Given the description of an element on the screen output the (x, y) to click on. 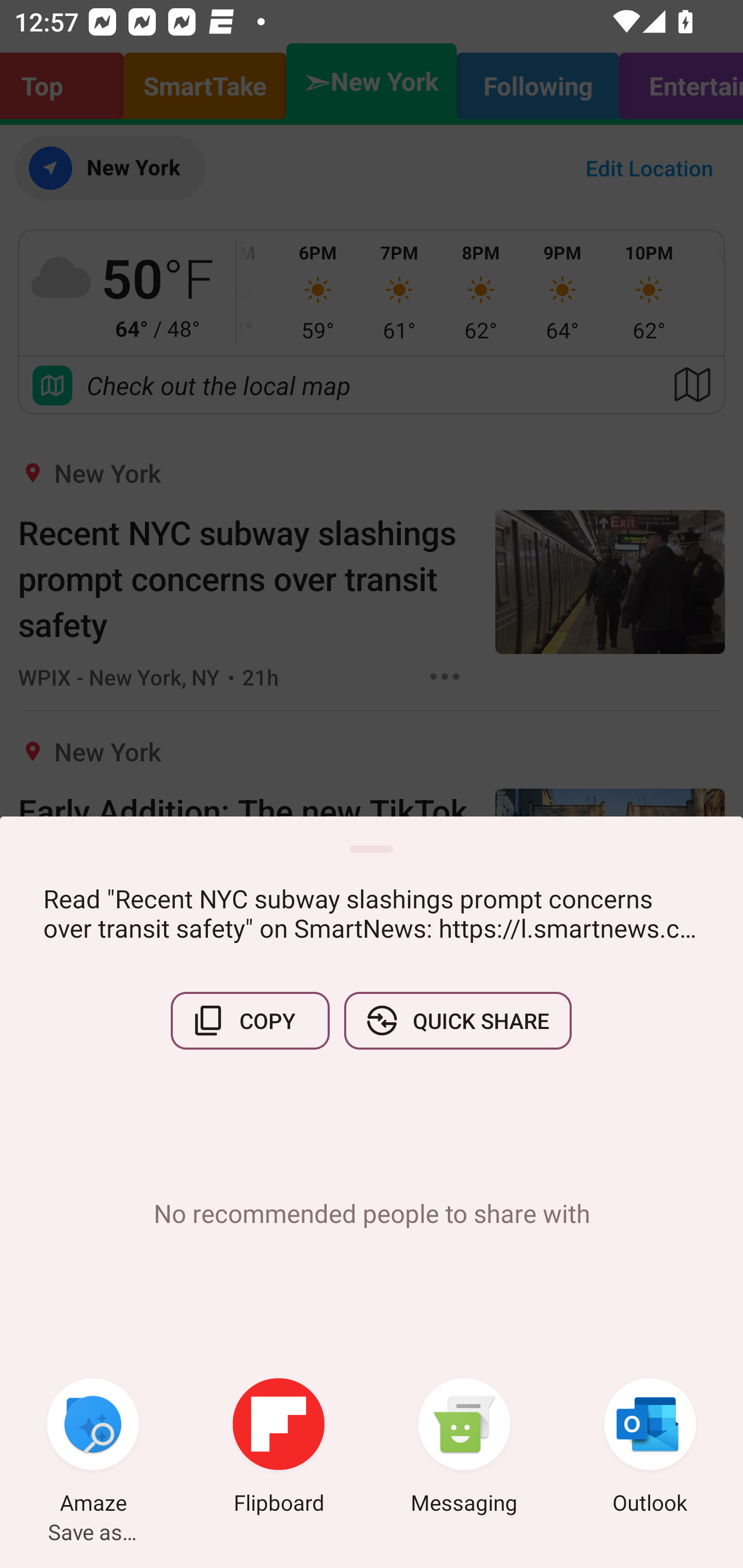
COPY (249, 1020)
QUICK SHARE (457, 1020)
Amaze Save as… (92, 1448)
Flipboard (278, 1448)
Messaging (464, 1448)
Outlook (650, 1448)
